Given the description of an element on the screen output the (x, y) to click on. 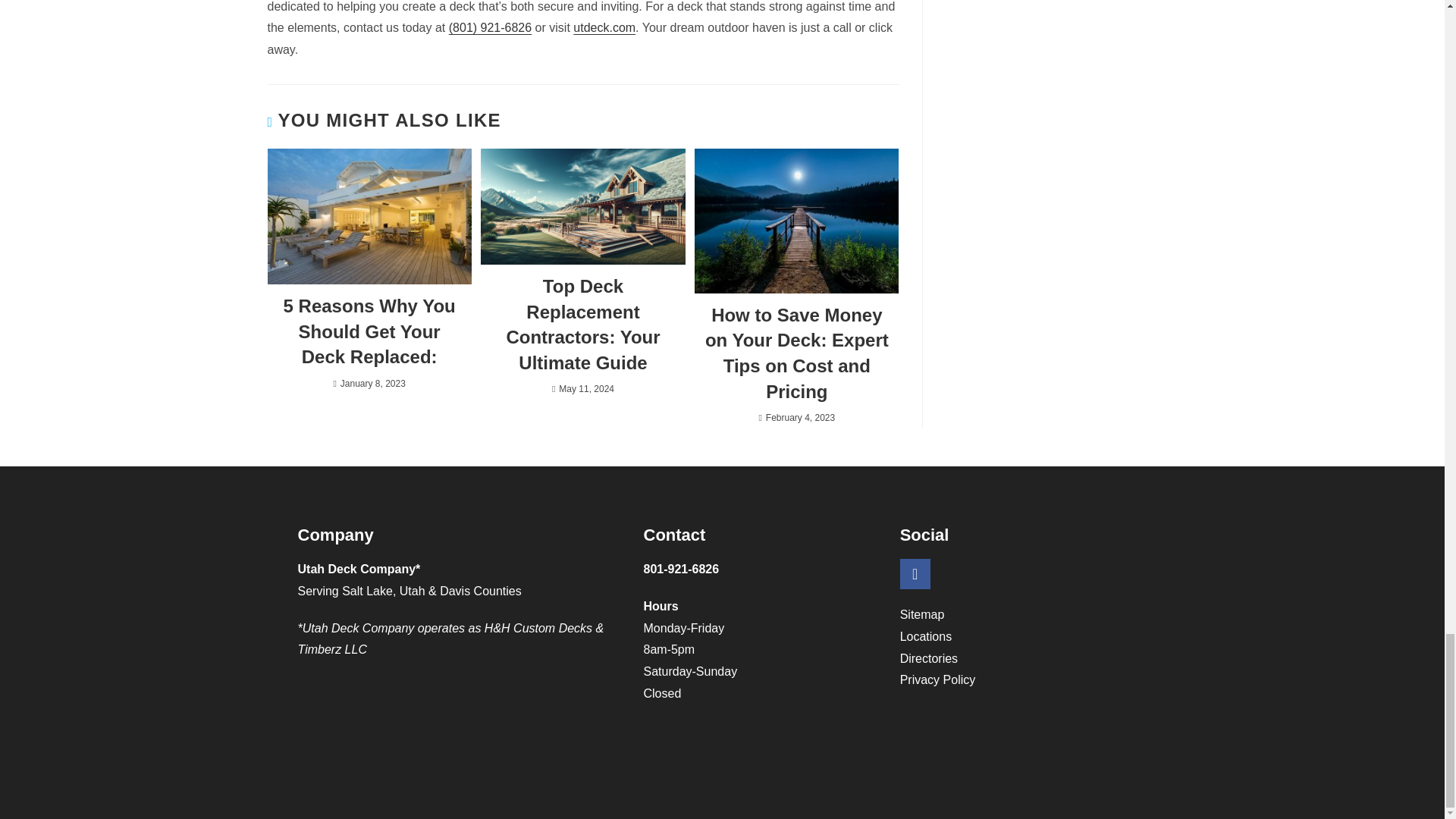
Top Deck Replacement Contractors: Your Ultimate Guide 3 (582, 206)
5 Reasons Why You Should Get Your Deck Replaced: 2 (368, 216)
